Given the description of an element on the screen output the (x, y) to click on. 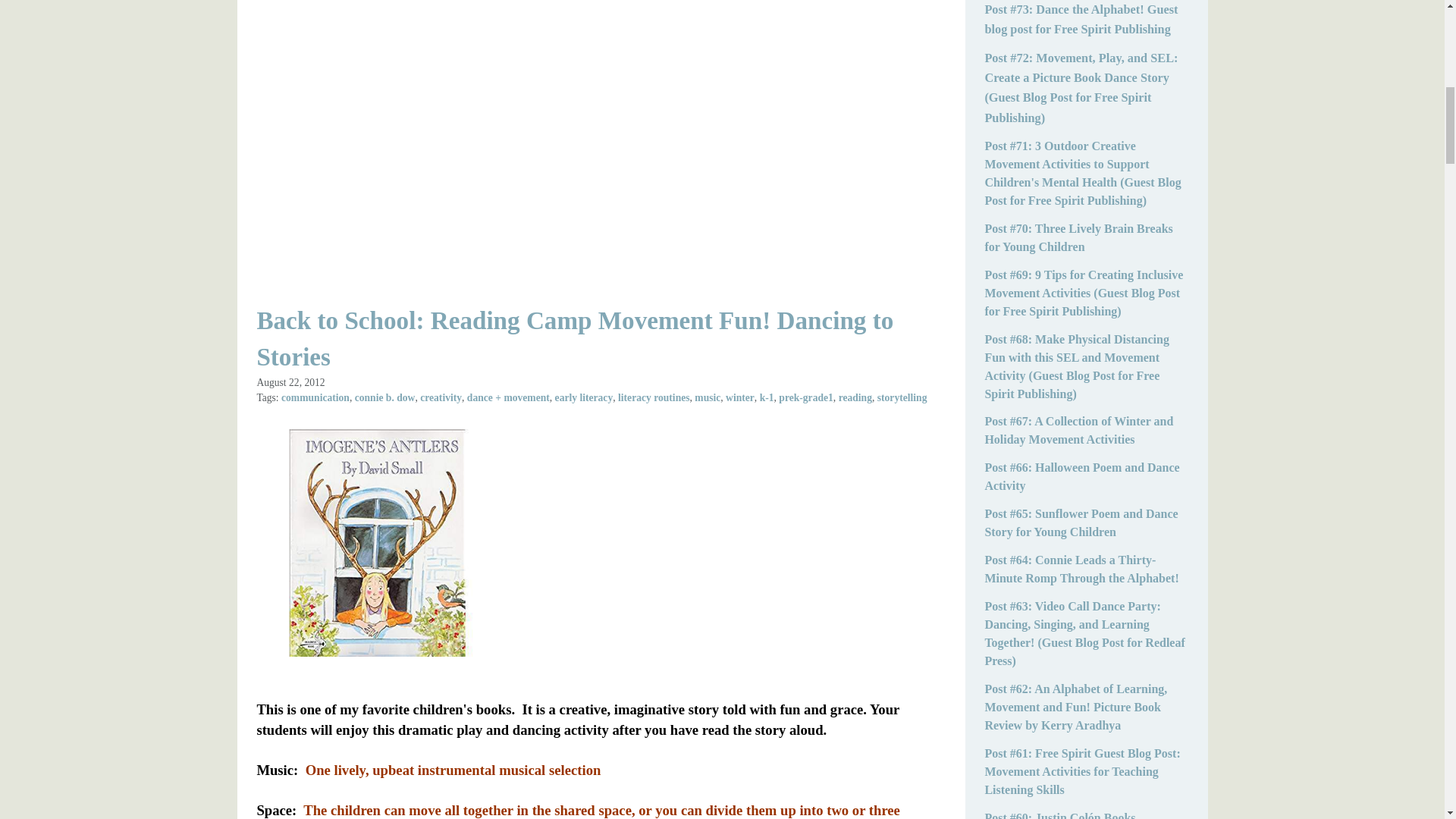
early literacy (583, 397)
literacy routines (653, 397)
winter (739, 397)
prek-grade1 (805, 397)
creativity (440, 397)
storytelling (902, 397)
music (707, 397)
connie b. dow (384, 397)
communication (315, 397)
